Given the description of an element on the screen output the (x, y) to click on. 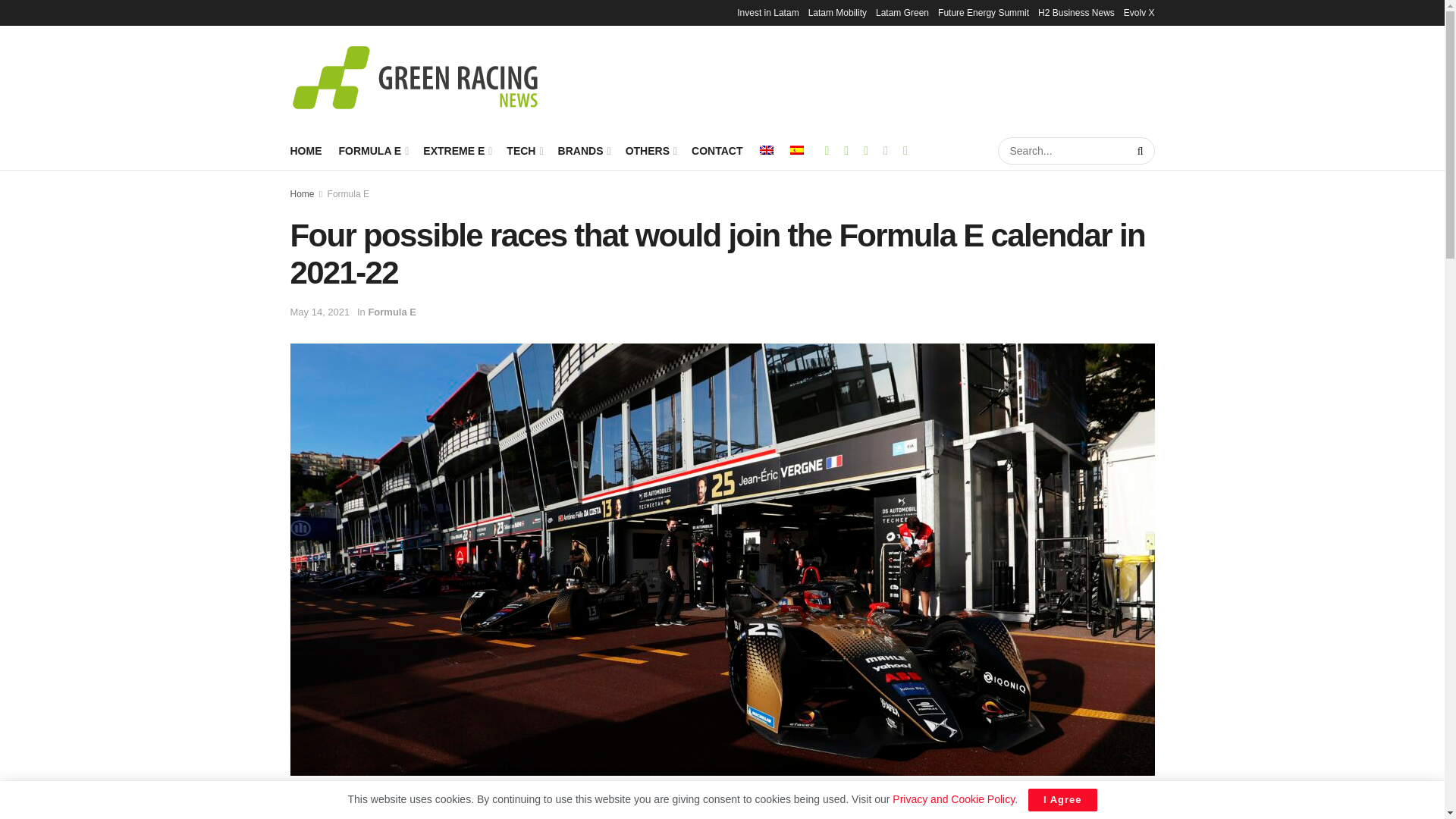
Latam Mobility (837, 12)
BRANDS (582, 150)
H2 Business News (1076, 12)
HOME (305, 150)
Home (301, 194)
Evolv X (1139, 12)
OTHERS (650, 150)
Formula E (348, 194)
Invest in Latam (766, 12)
FORMULA E (371, 150)
Latam Green (902, 12)
TECH (523, 150)
EXTREME E (456, 150)
CONTACT (716, 150)
Future Energy Summit (983, 12)
